Given the description of an element on the screen output the (x, y) to click on. 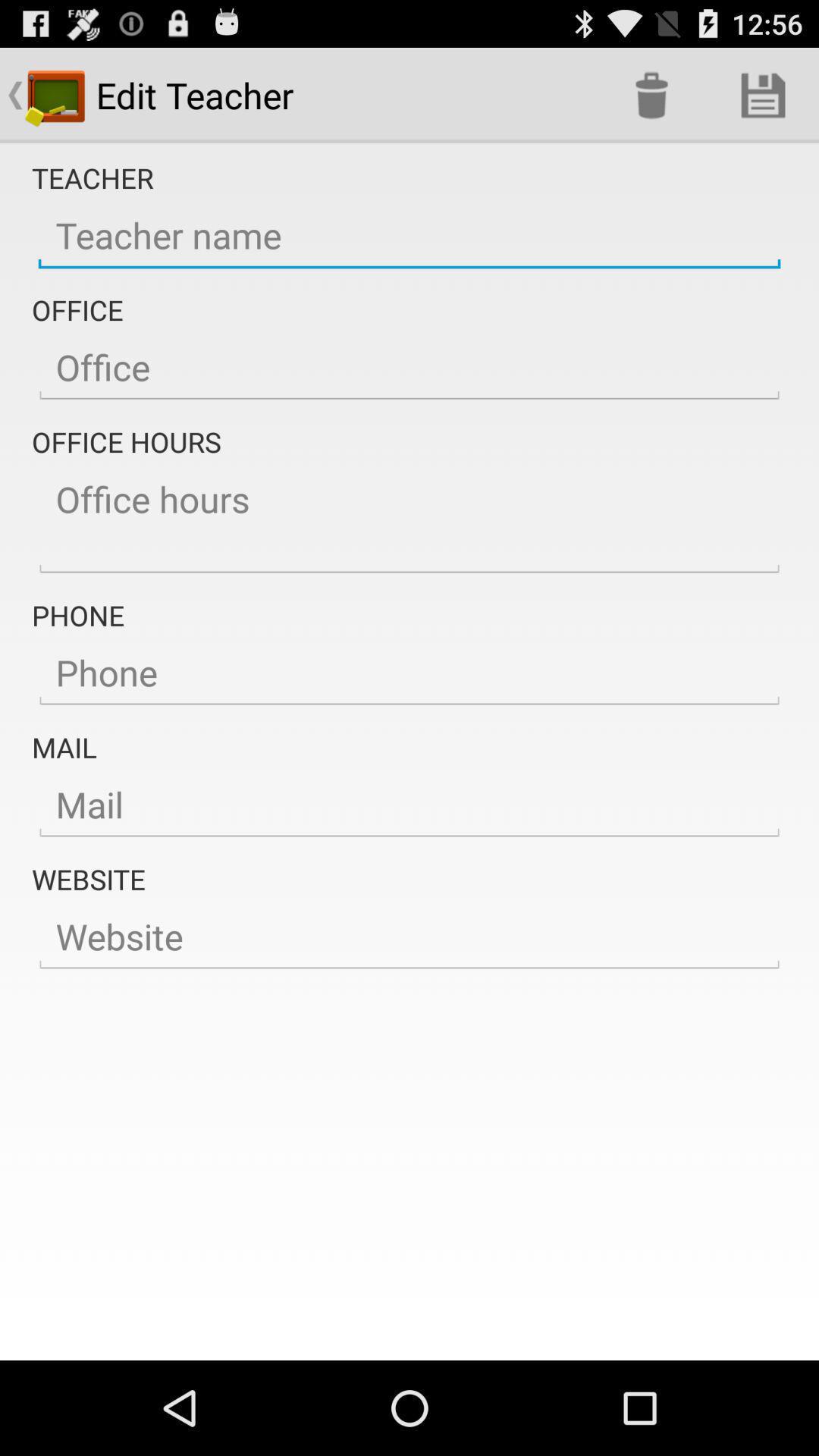
office name fillup box (409, 367)
